Given the description of an element on the screen output the (x, y) to click on. 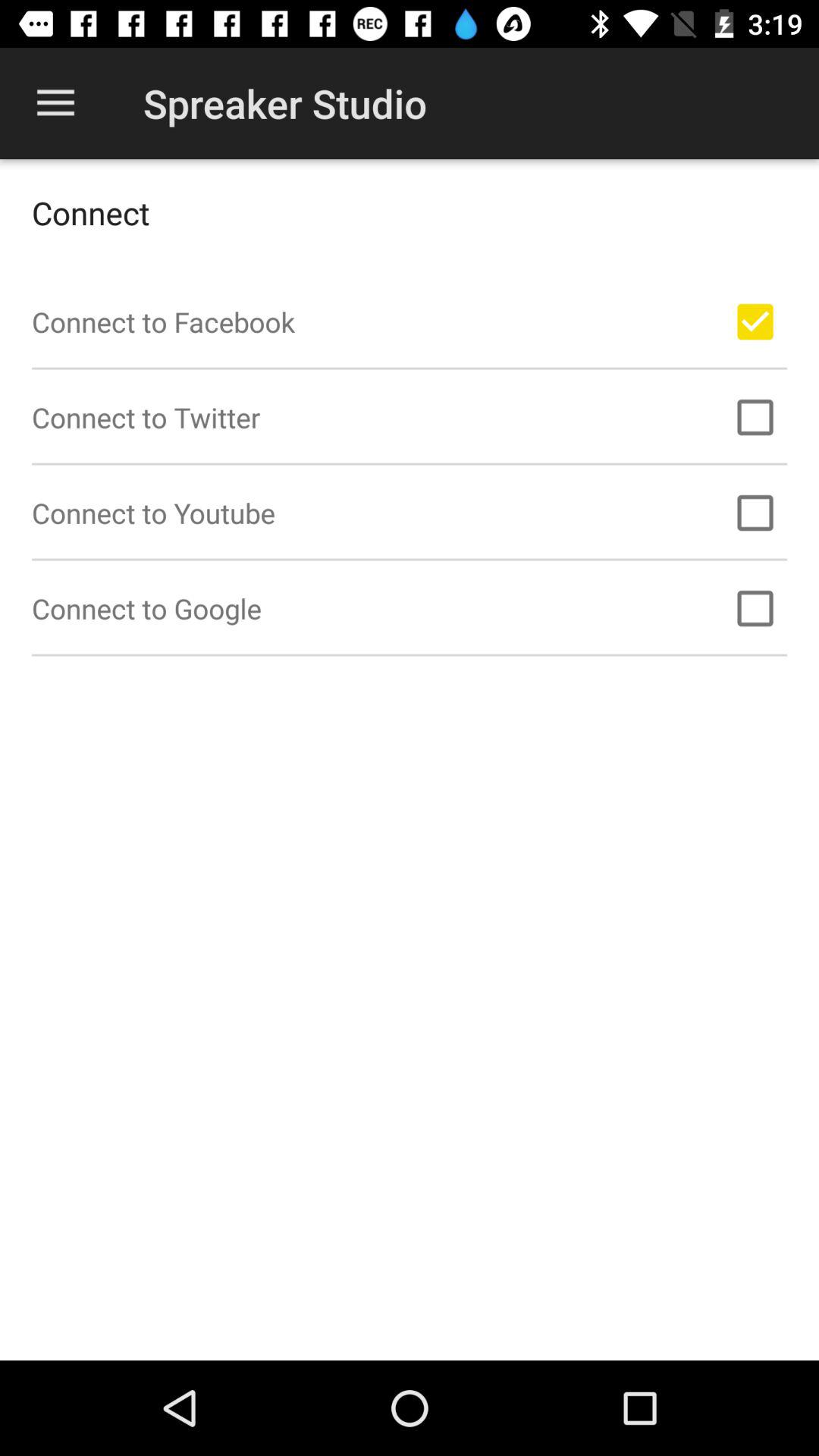
activate facebook setting (755, 321)
